Given the description of an element on the screen output the (x, y) to click on. 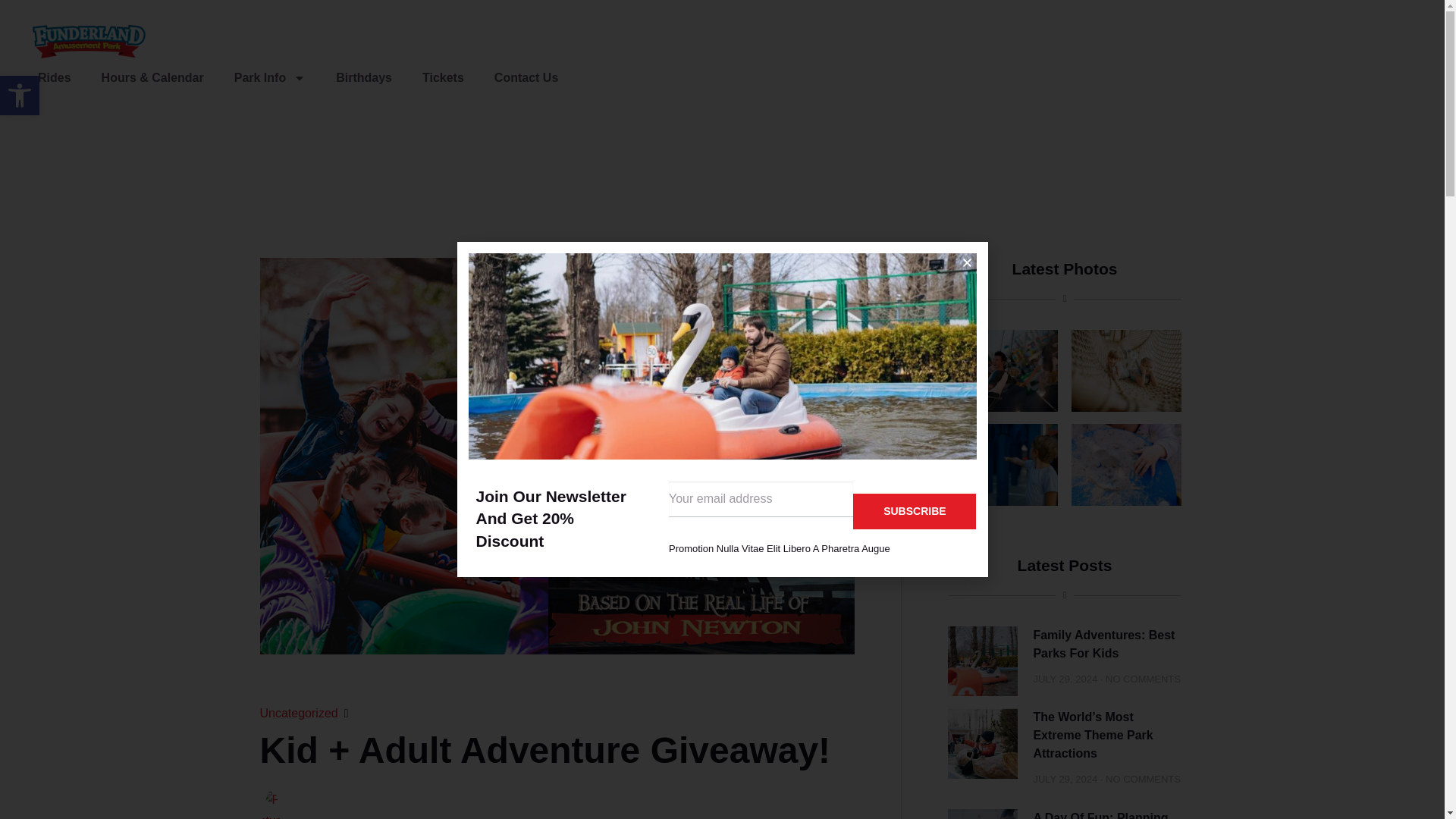
Park Info (269, 77)
Contact Us (526, 77)
Accessibility Tools (19, 95)
Rides (54, 77)
Birthdays (363, 77)
Tickets (443, 77)
Accessibility Tools (19, 95)
